Given the description of an element on the screen output the (x, y) to click on. 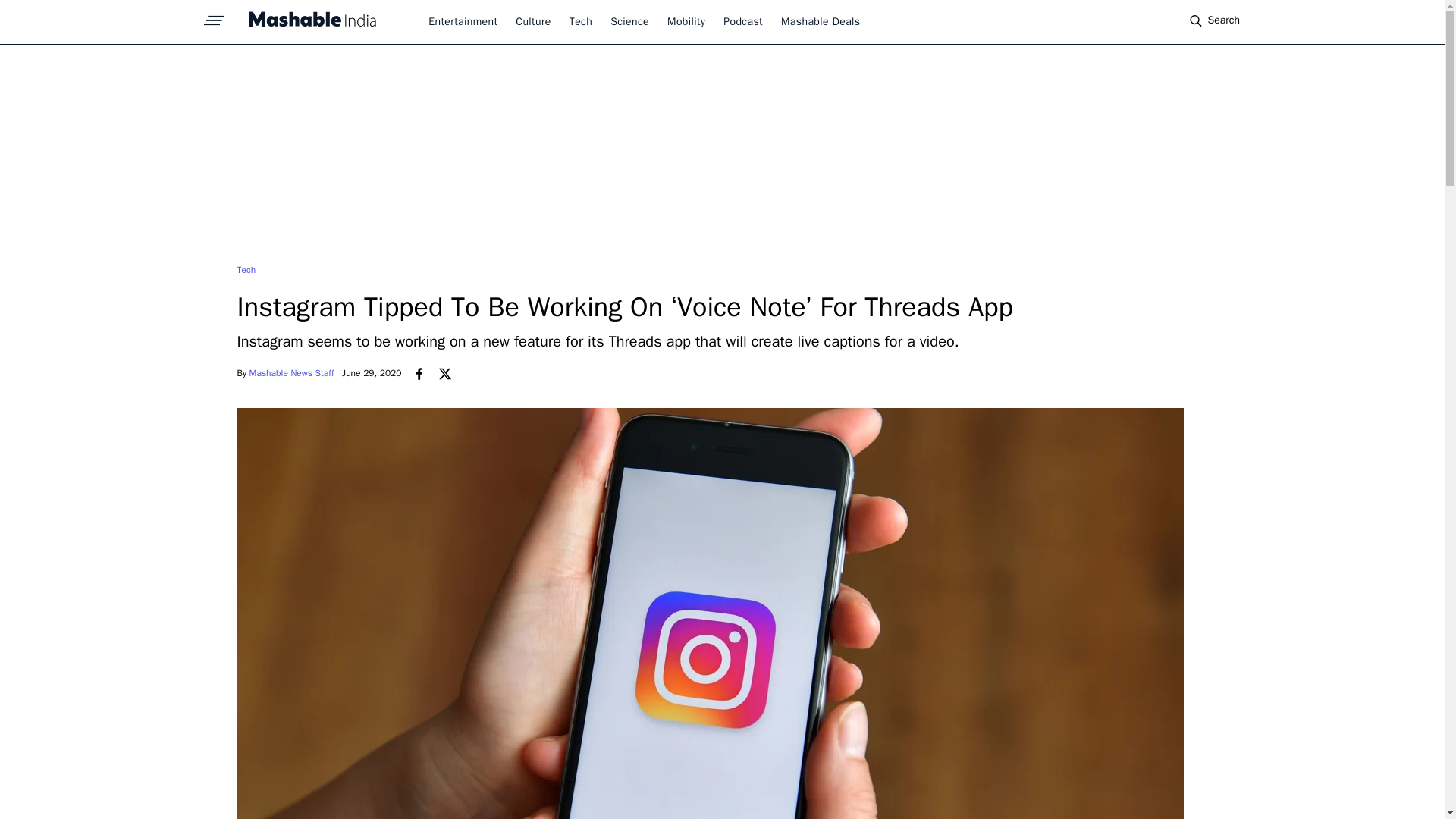
Mashable Deals (820, 21)
Tech (580, 21)
sprite-hamburger (213, 16)
Tech (245, 269)
Entertainment (462, 21)
Podcast (742, 21)
Culture (532, 21)
Science (629, 21)
Mashable News Staff (291, 372)
Mobility (685, 21)
